Given the description of an element on the screen output the (x, y) to click on. 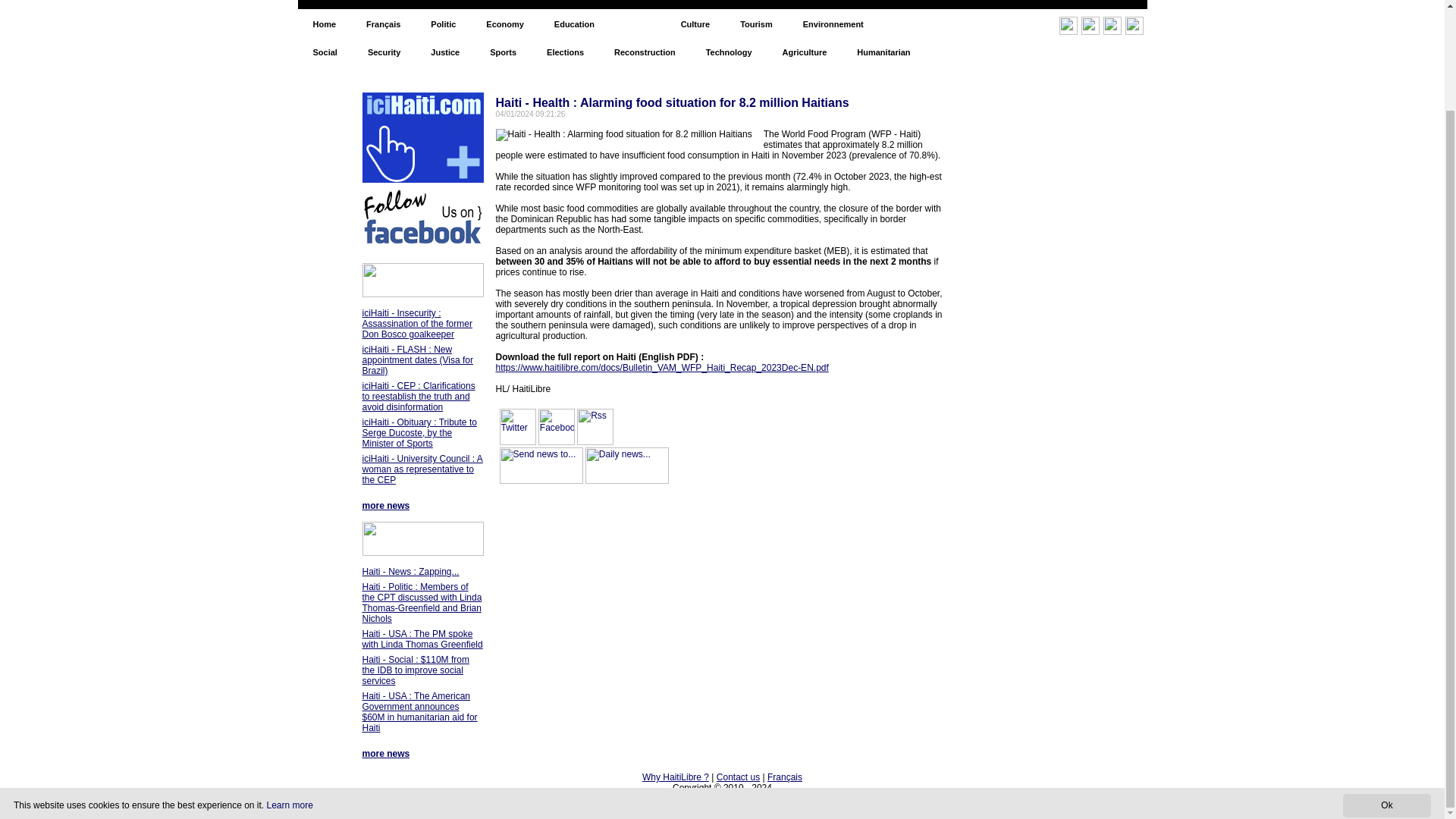
Environnement (833, 24)
Tourism (756, 24)
Education (574, 24)
Haiti - News : Zapping... (411, 571)
Haiti - USA : The PM spoke with Linda Thomas Greenfield (422, 639)
more news (386, 753)
Education (574, 24)
Culture (695, 24)
Economy (504, 24)
Agriculture (805, 52)
COVID-19 (913, 24)
Humanitarian (882, 52)
Social (324, 52)
Humanitarian (882, 52)
